Given the description of an element on the screen output the (x, y) to click on. 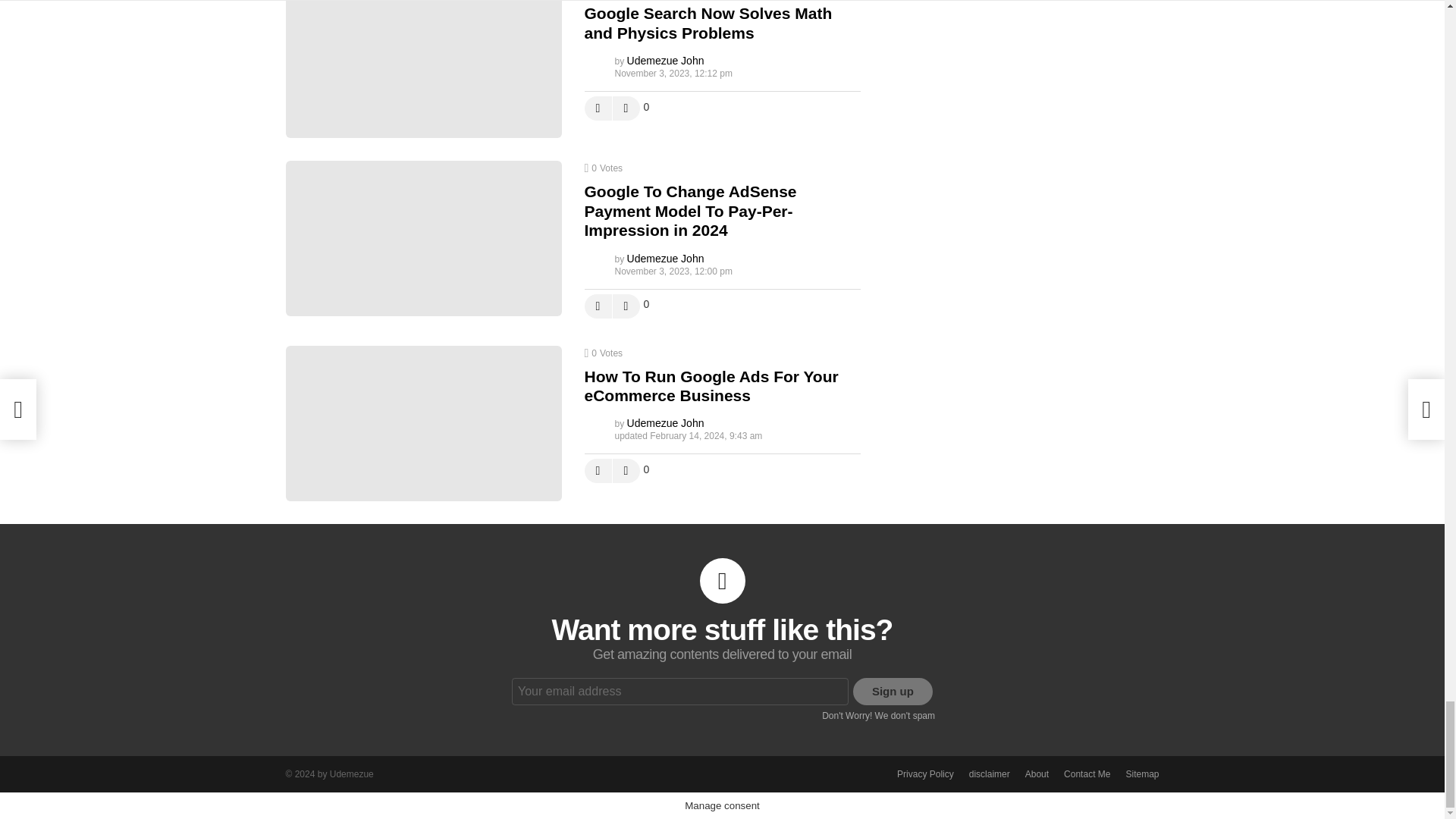
Sign up (893, 691)
